Given the description of an element on the screen output the (x, y) to click on. 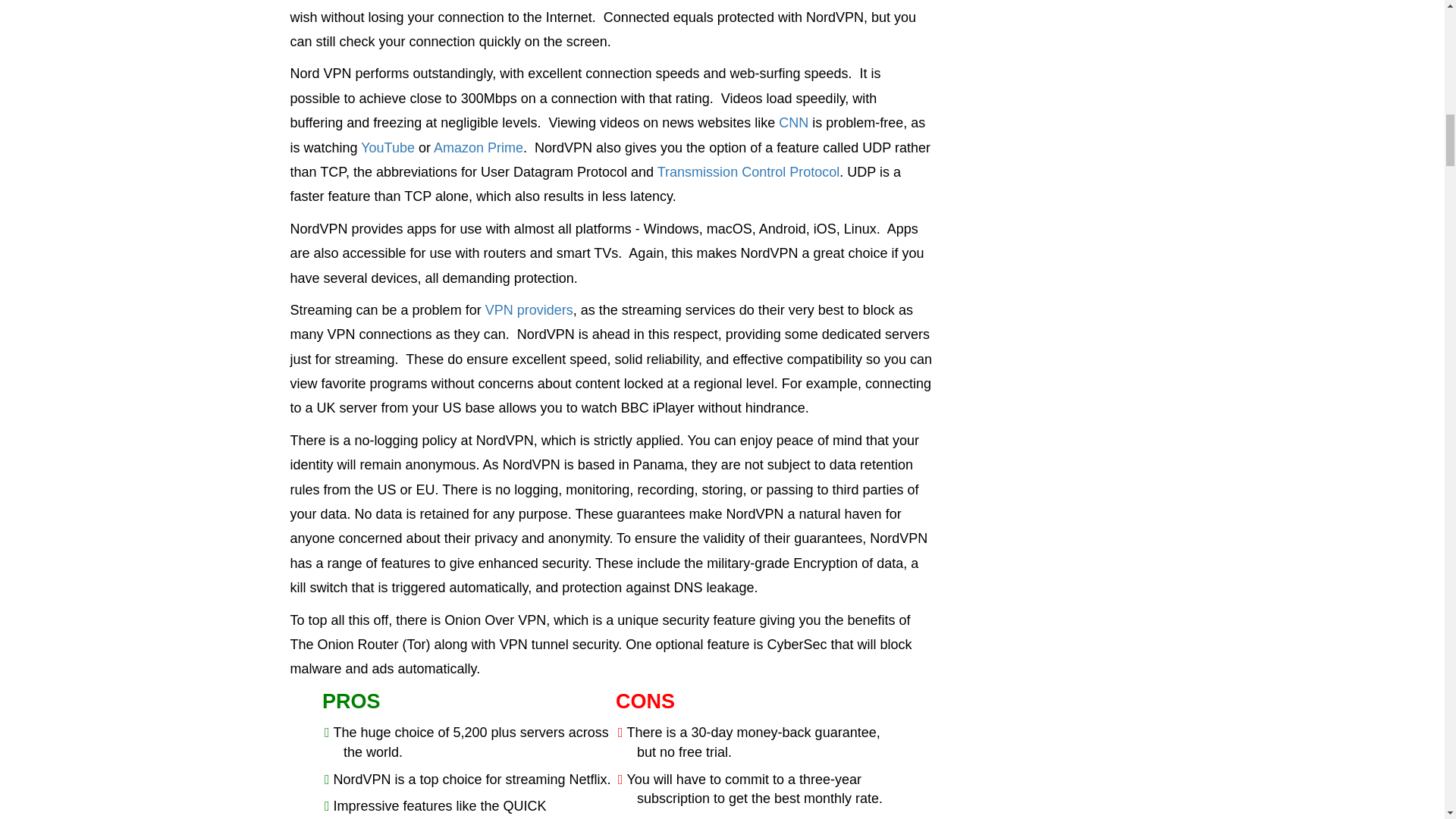
Transmission Control Protocol (749, 171)
YouTube (387, 147)
VPN providers (528, 309)
CNN (793, 122)
Amazon Prime (477, 147)
